Given the description of an element on the screen output the (x, y) to click on. 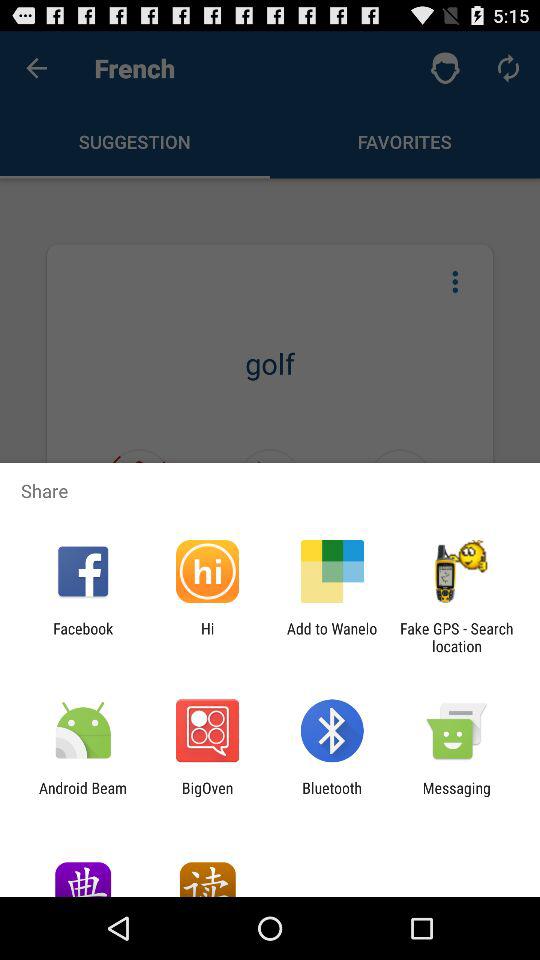
turn off app next to the messaging (331, 796)
